Given the description of an element on the screen output the (x, y) to click on. 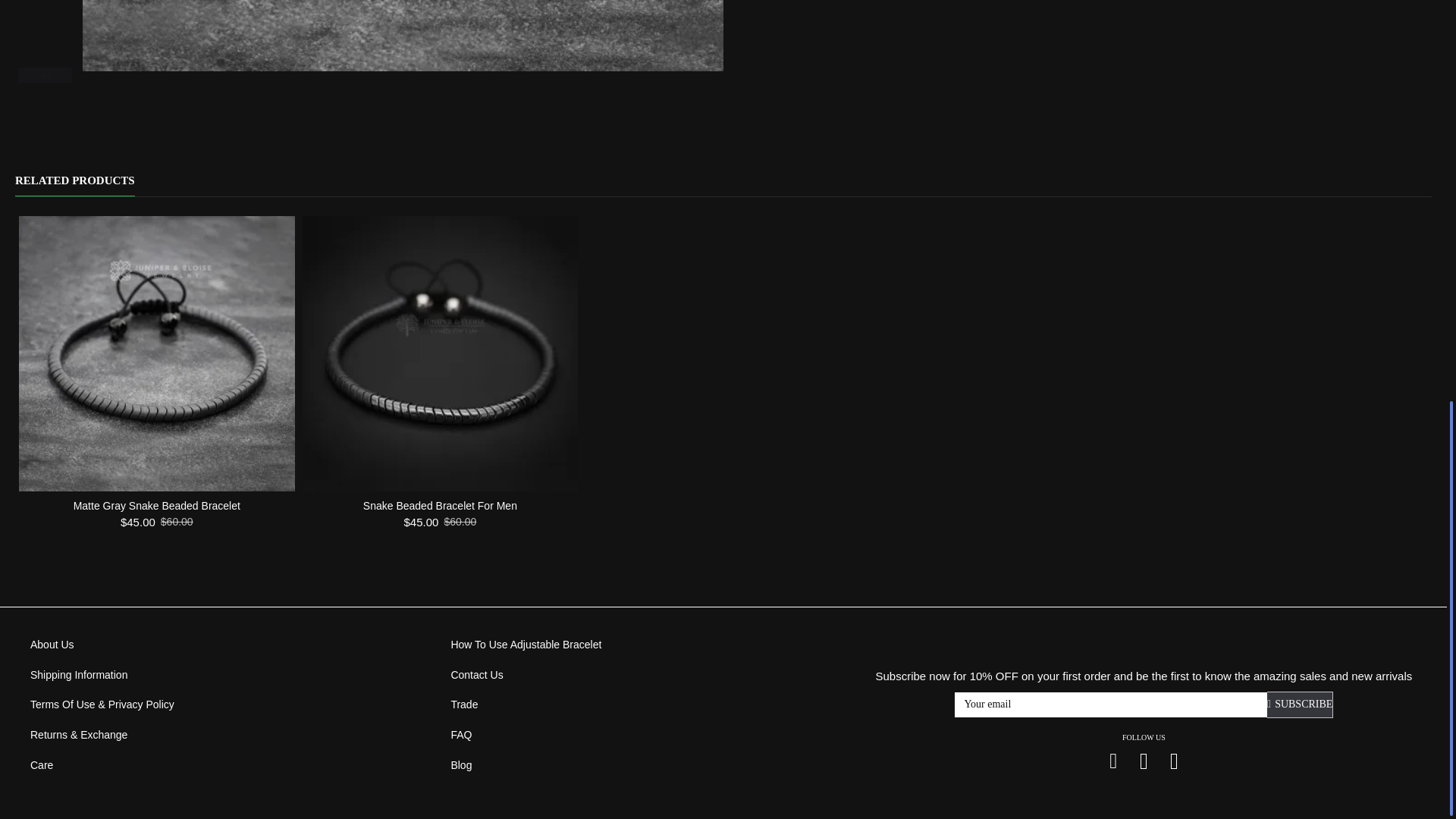
Mens Monochrome Snake Beaded Bracelet (402, 35)
Matte Gray Snake Beaded Bracelet (156, 354)
Snake Beaded Bracelet For Men (440, 354)
